Given the description of an element on the screen output the (x, y) to click on. 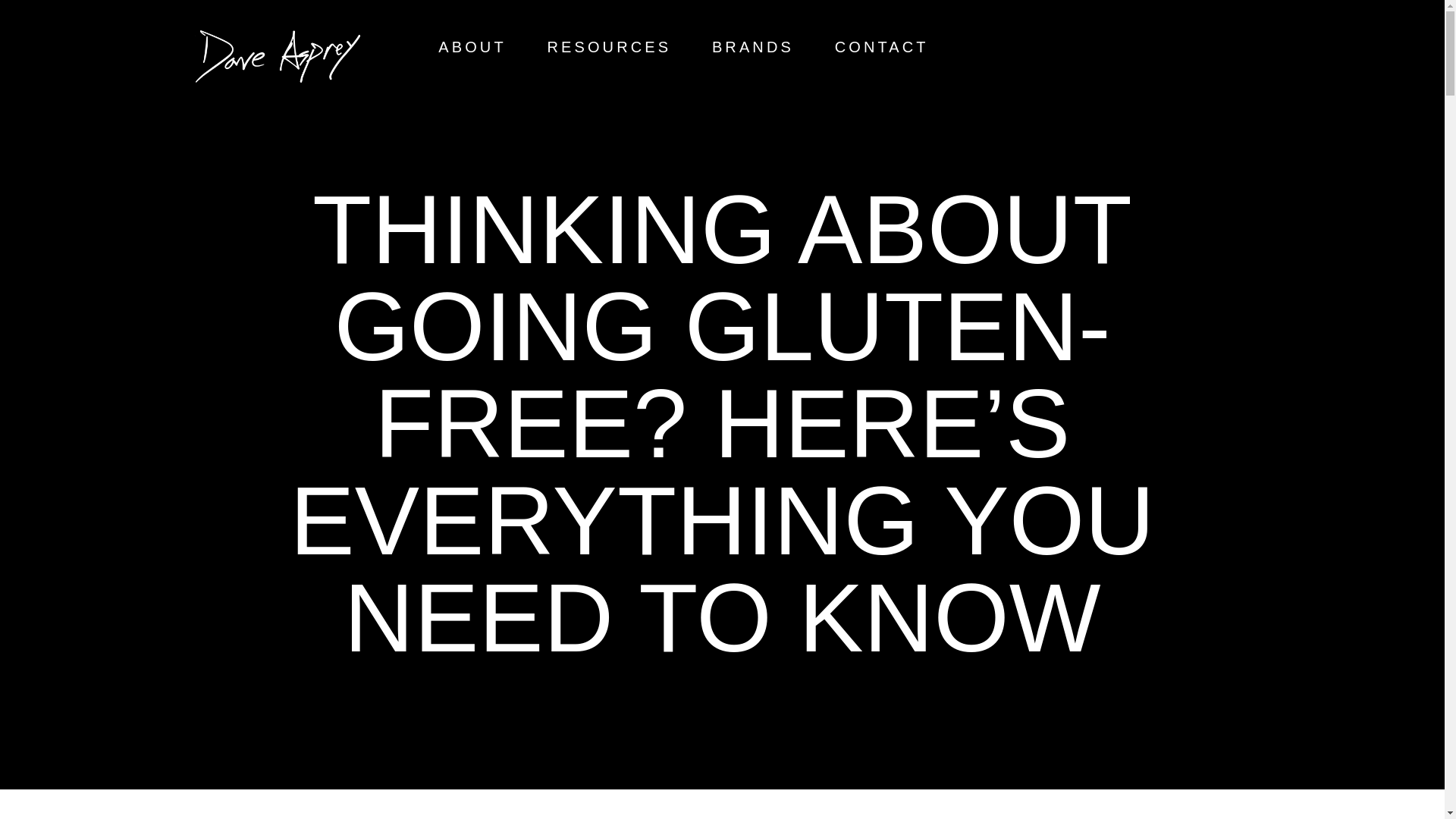
CONTACT (881, 46)
ABOUT (471, 46)
RESOURCES (609, 46)
BRANDS (752, 46)
